Given the description of an element on the screen output the (x, y) to click on. 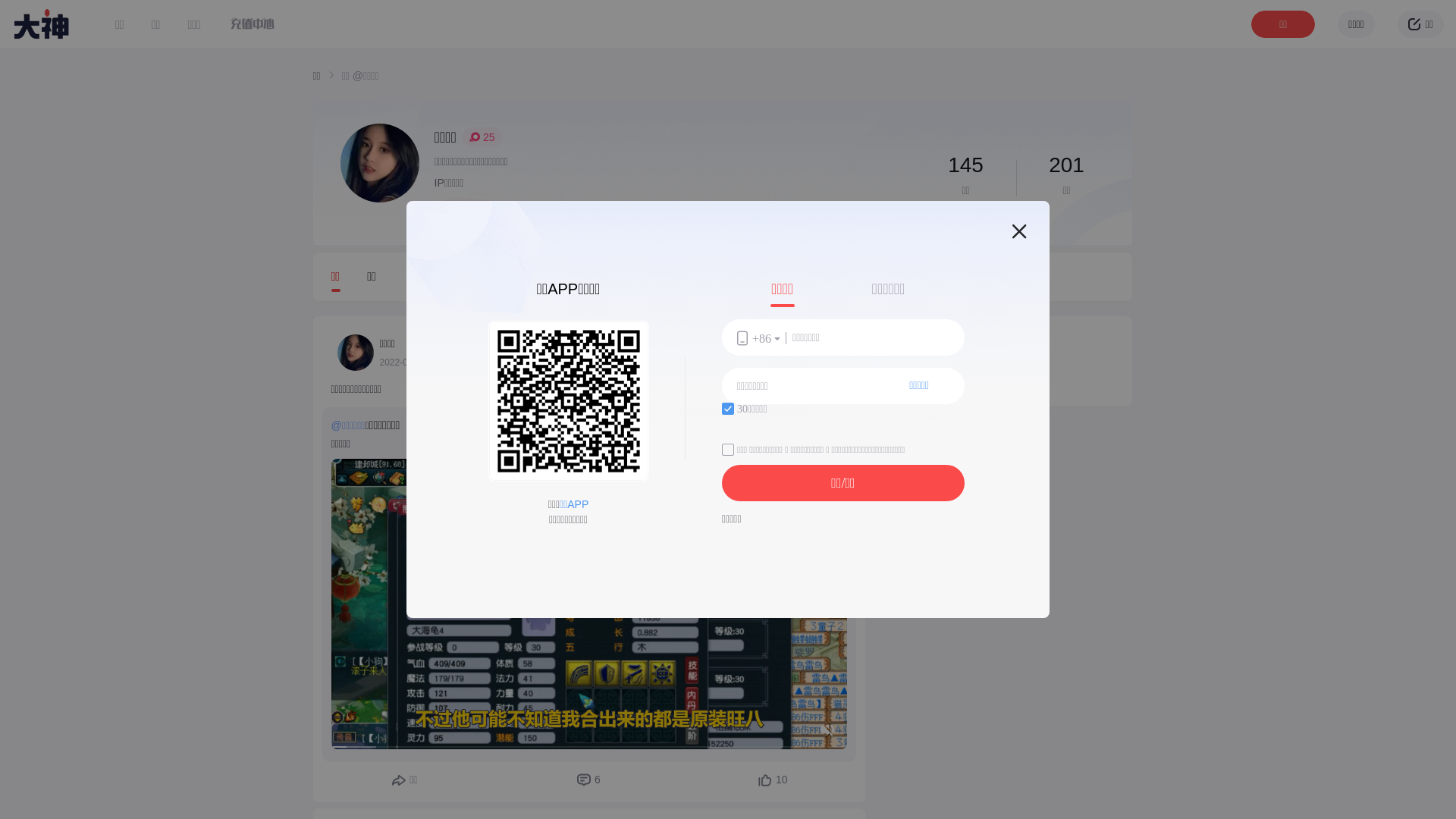
10 Element type: text (772, 780)
6 Element type: text (588, 780)
